Given the description of an element on the screen output the (x, y) to click on. 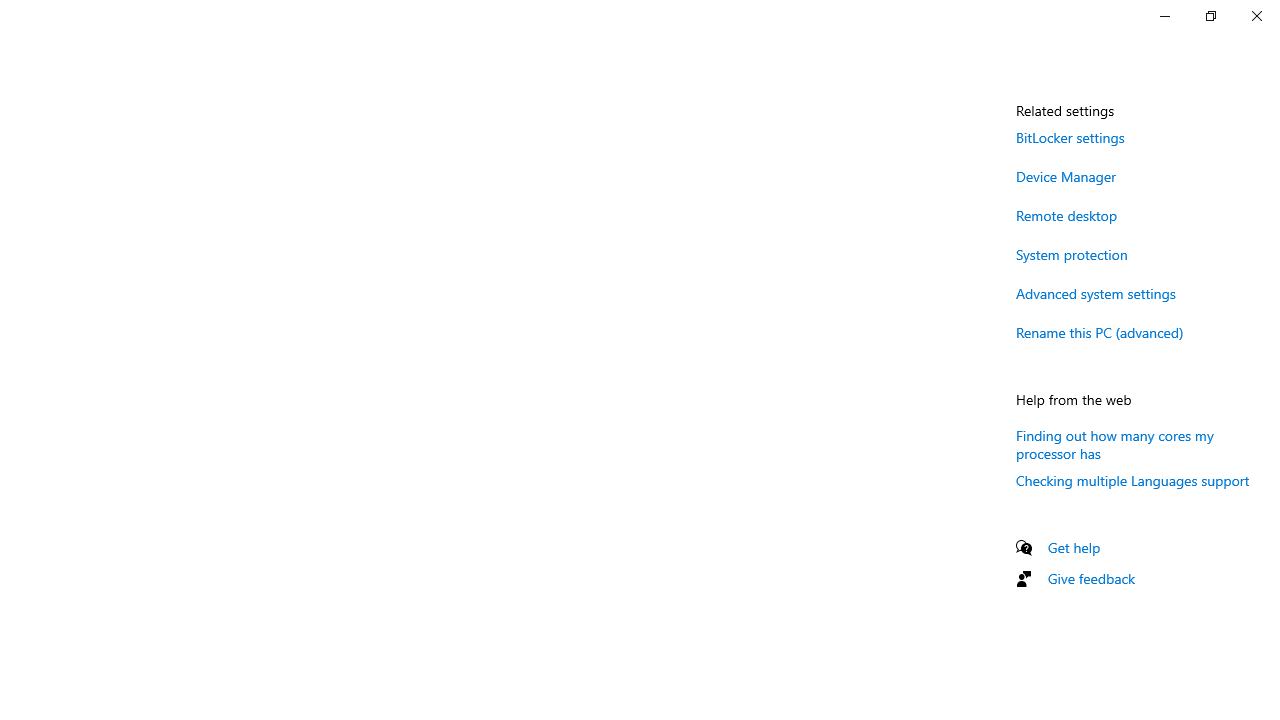
Give feedback (1091, 578)
Minimize Settings (1164, 15)
Checking multiple Languages support (1133, 480)
System protection (1071, 254)
Restore Settings (1210, 15)
Rename this PC (advanced) (1100, 332)
Advanced system settings (1096, 293)
Close Settings (1256, 15)
Get help (1074, 547)
Remote desktop (1066, 214)
BitLocker settings (1070, 137)
Finding out how many cores my processor has (1114, 443)
Device Manager (1066, 176)
